Given the description of an element on the screen output the (x, y) to click on. 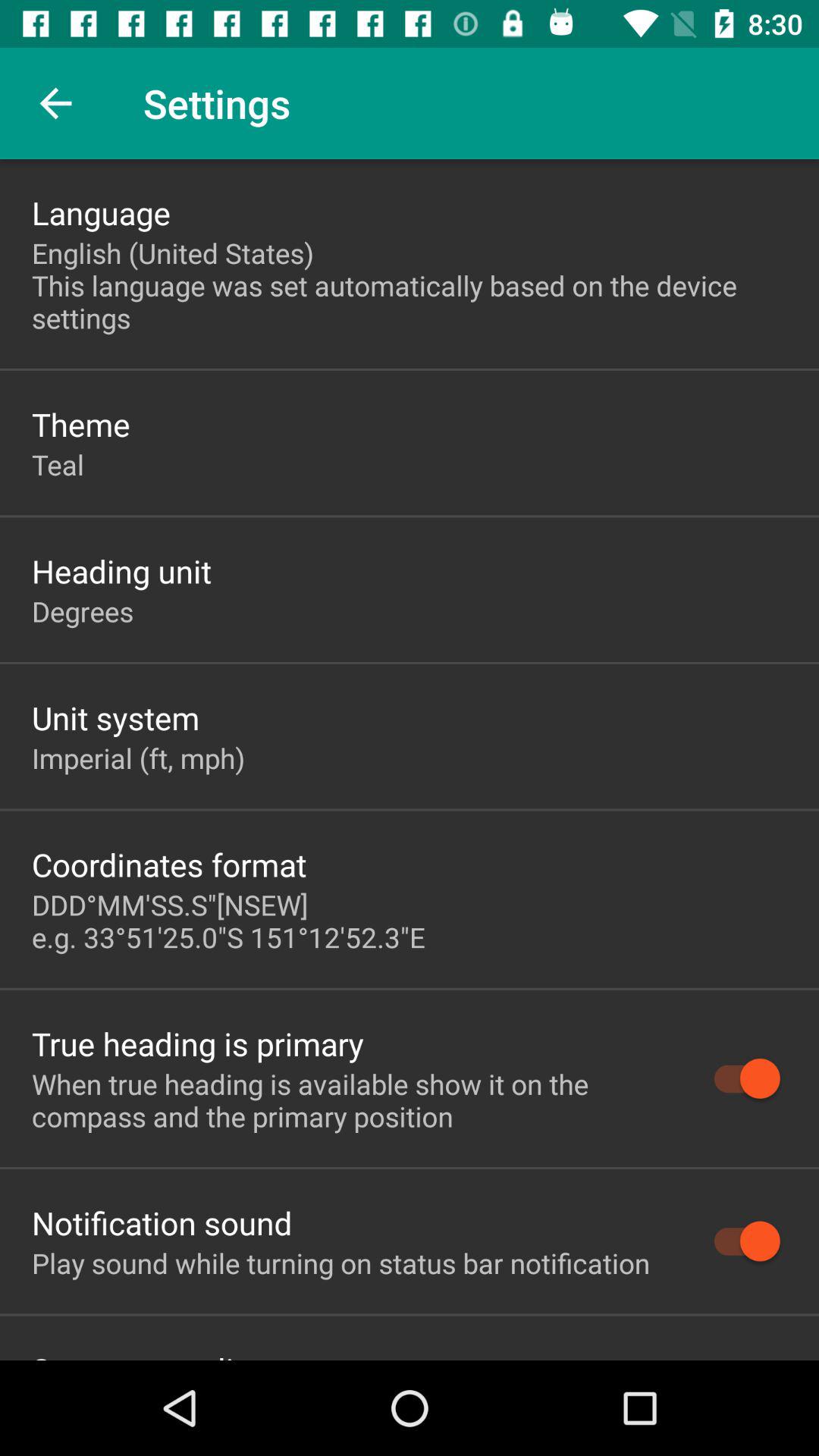
select item above the language icon (55, 103)
